Given the description of an element on the screen output the (x, y) to click on. 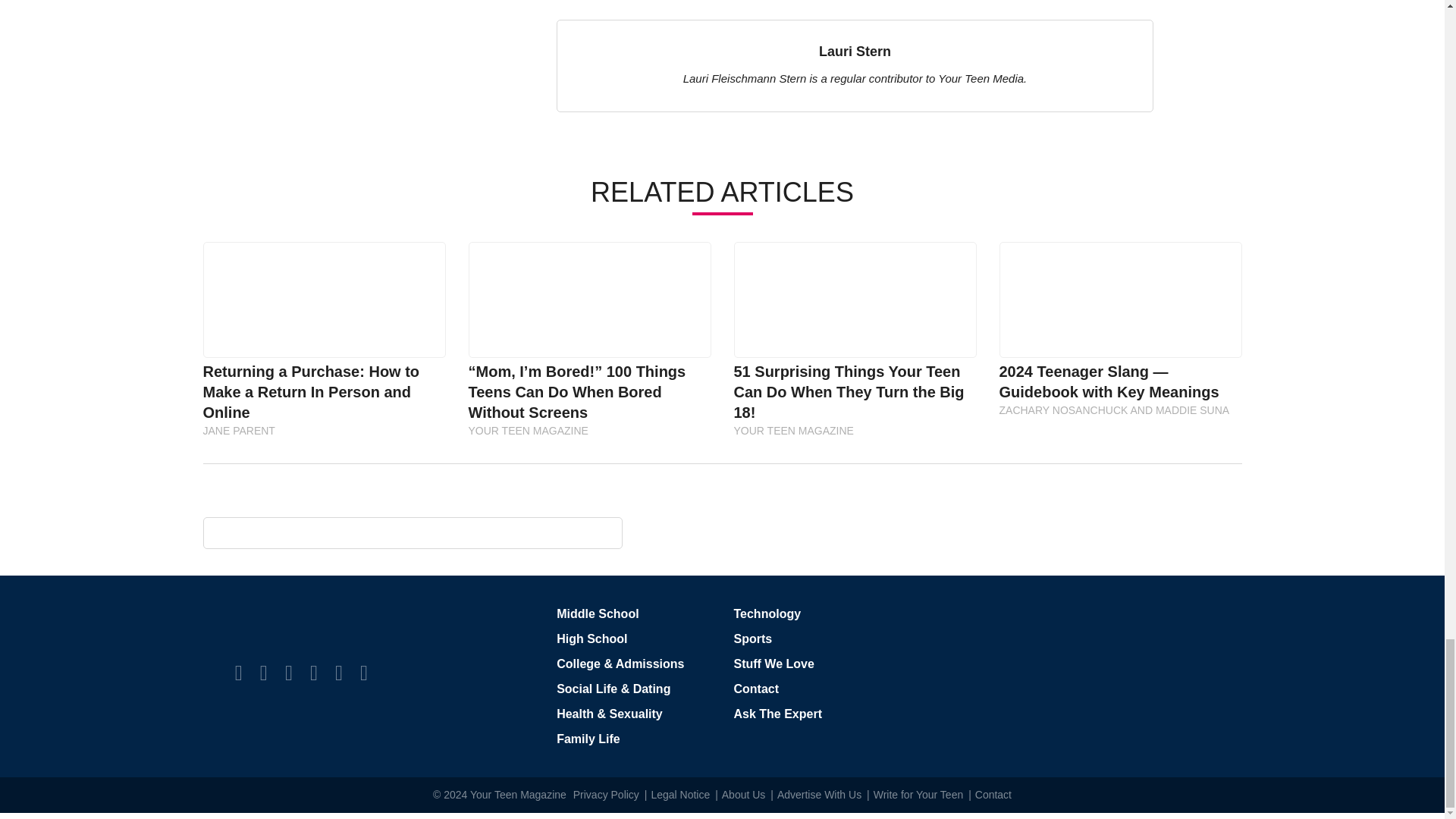
Your Teen Podcast (363, 672)
Pinterest (313, 672)
Twitter (263, 672)
Facebook (238, 672)
YouTube (338, 672)
Instagram (288, 672)
